Given the description of an element on the screen output the (x, y) to click on. 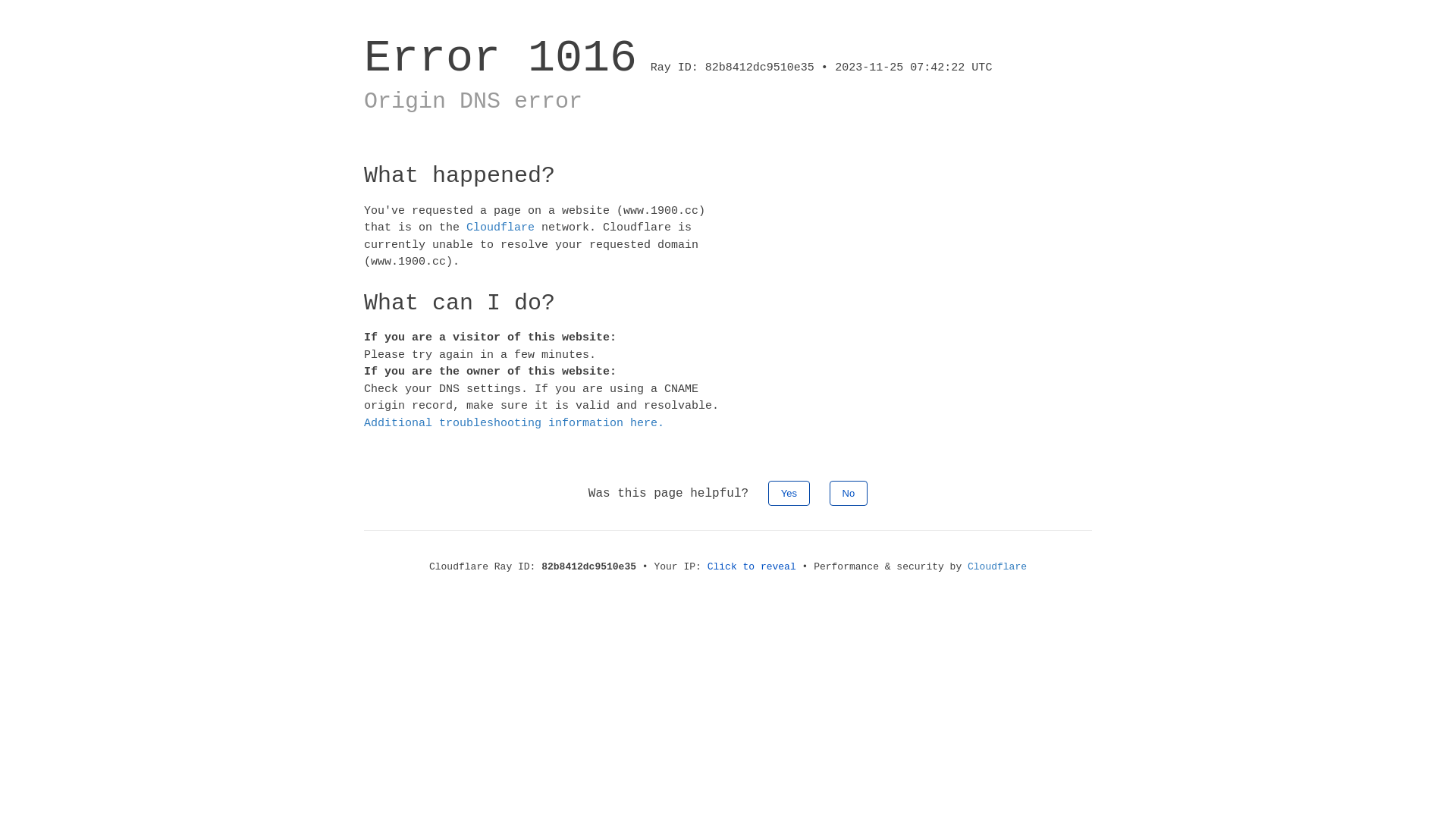
Cloudflare Element type: text (500, 227)
Cloudflare Element type: text (996, 566)
No Element type: text (848, 492)
Yes Element type: text (788, 492)
Click to reveal Element type: text (751, 566)
Additional troubleshooting information here. Element type: text (514, 423)
